Given the description of an element on the screen output the (x, y) to click on. 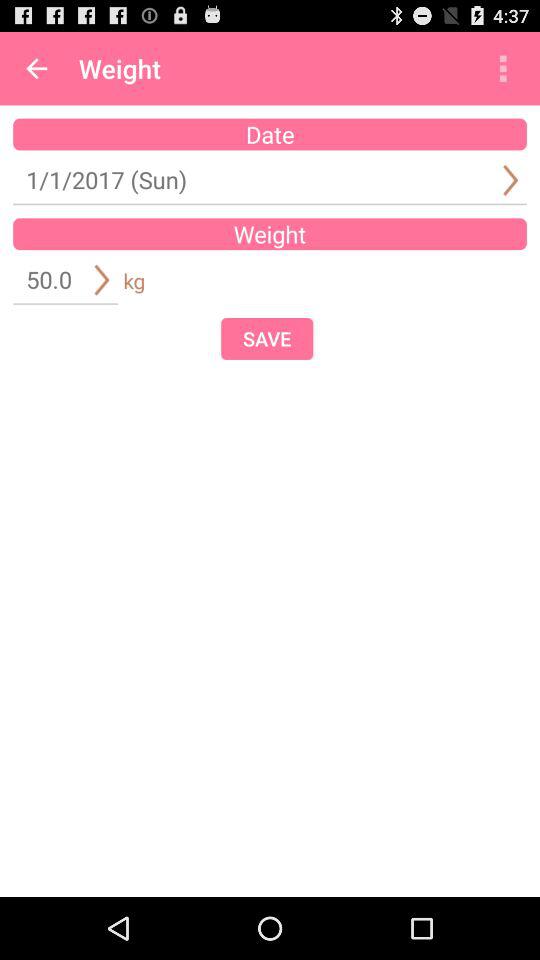
press item to the right of weight icon (503, 67)
